Given the description of an element on the screen output the (x, y) to click on. 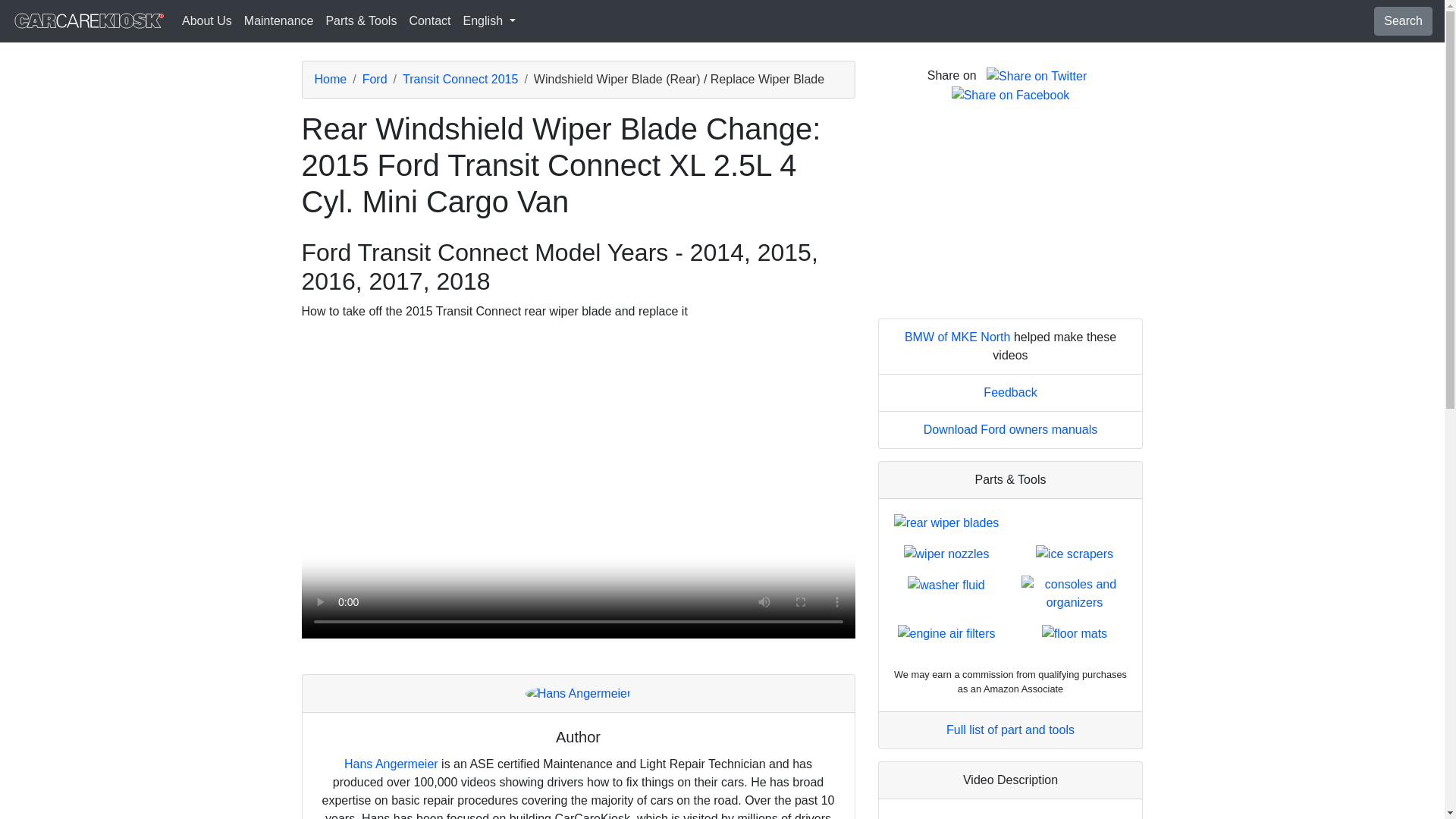
Contact (430, 20)
Transit Connect 2015 (460, 79)
Download Ford owners manuals (1010, 429)
Ford (374, 79)
Hans Angermeier (390, 763)
English (489, 20)
BMW of MKE North (957, 336)
Full list of part and tools (1010, 729)
Home (330, 79)
Feedback (1010, 391)
